Given the description of an element on the screen output the (x, y) to click on. 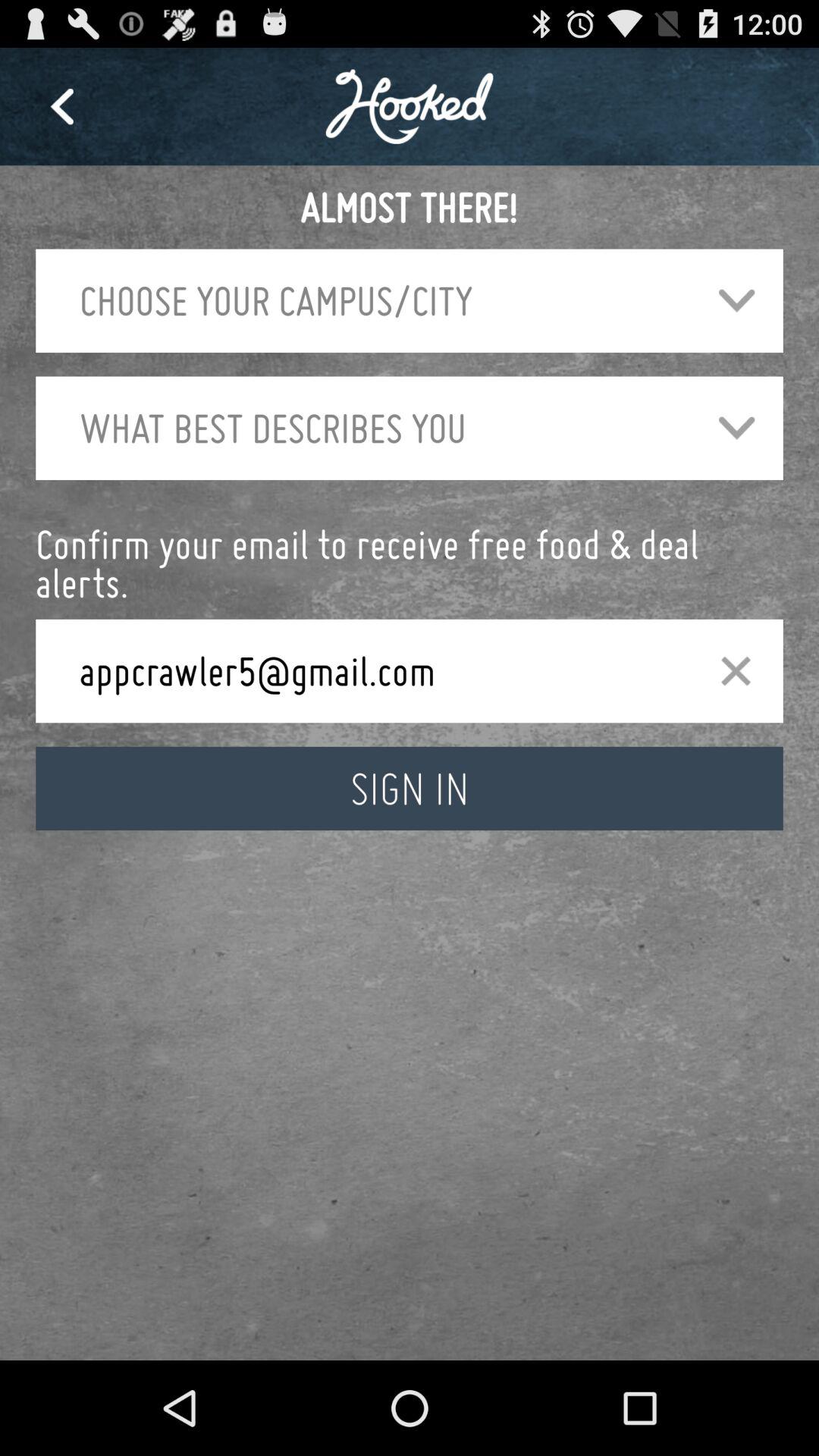
turn on app below confirm your email icon (374, 670)
